Given the description of an element on the screen output the (x, y) to click on. 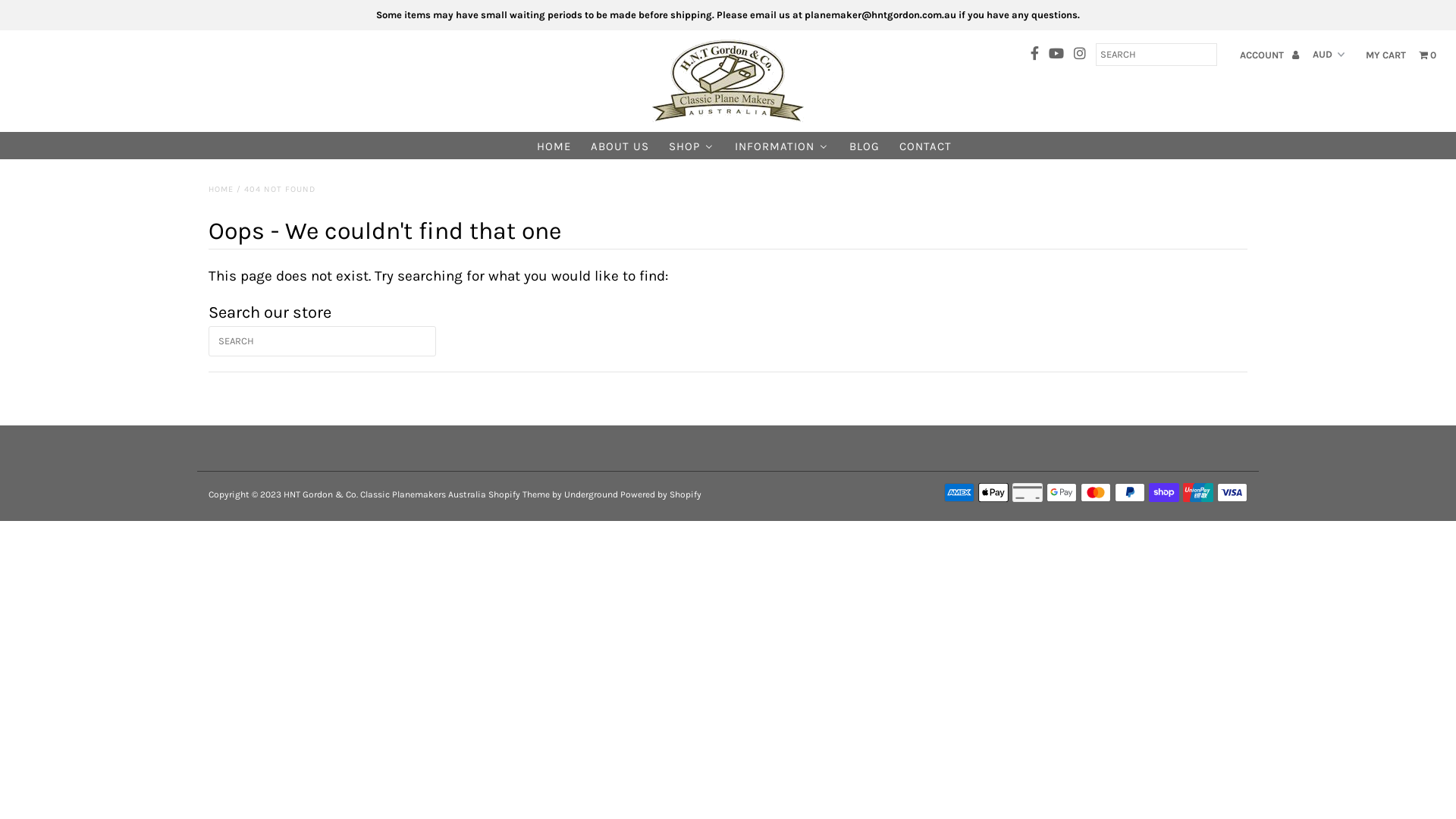
HNT Gordon & Co. Classic Planemakers Australia Element type: text (384, 494)
BLOG Element type: text (863, 145)
ABOUT US Element type: text (618, 145)
SHOP Element type: text (691, 145)
MY CART   0 Element type: text (1400, 55)
CONTACT Element type: text (924, 145)
HOME Element type: text (553, 145)
Shopify Theme Element type: text (518, 494)
Powered by Shopify Element type: text (660, 494)
ACCOUNT Element type: text (1269, 55)
HOME Element type: text (220, 189)
INFORMATION Element type: text (780, 145)
